Given the description of an element on the screen output the (x, y) to click on. 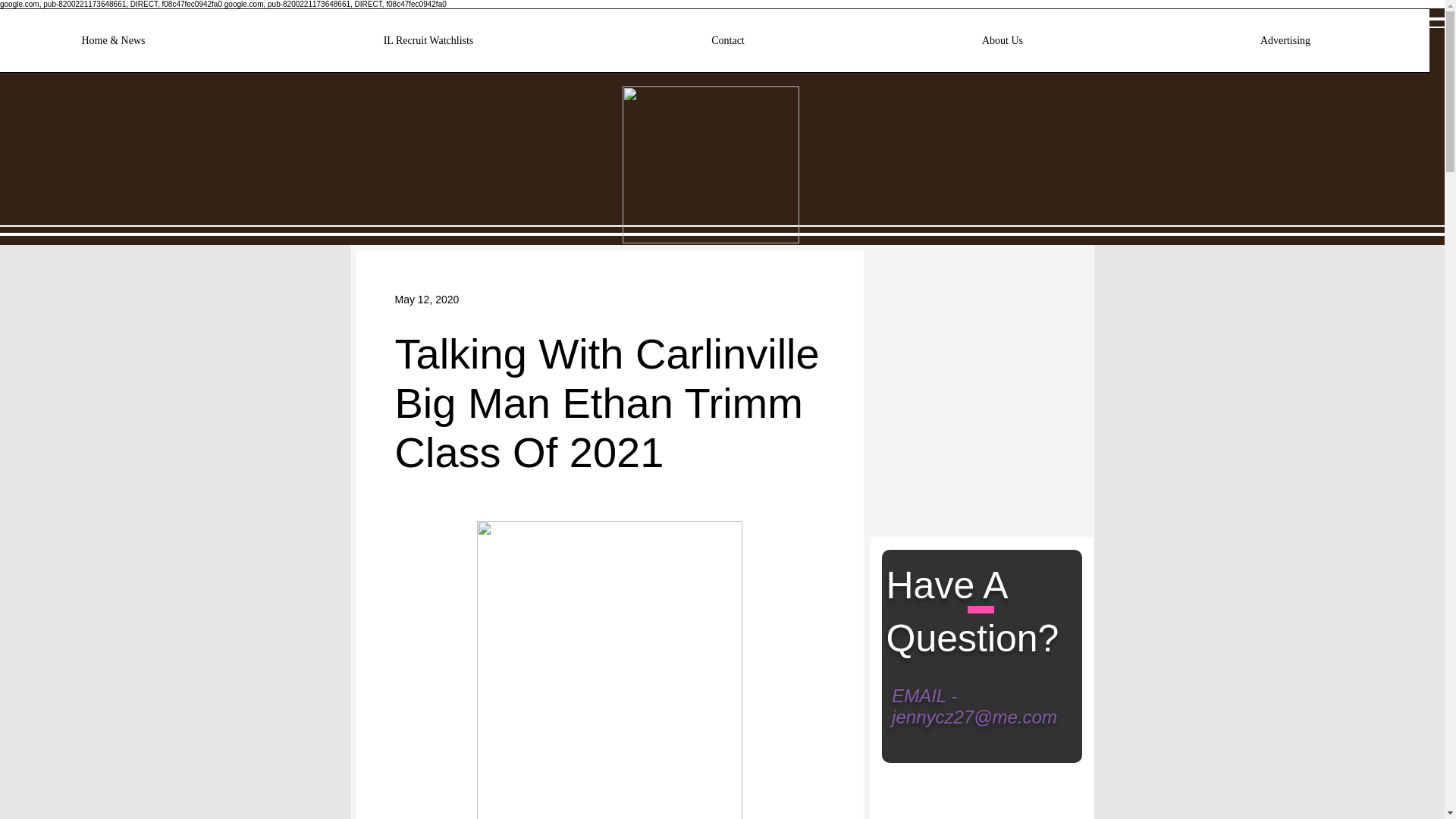
May 12, 2020 (426, 298)
Advertising (1285, 45)
IL Recruit Watchlists (427, 45)
About Us (1002, 45)
Twitter Follow (932, 289)
Contact (727, 45)
